Given the description of an element on the screen output the (x, y) to click on. 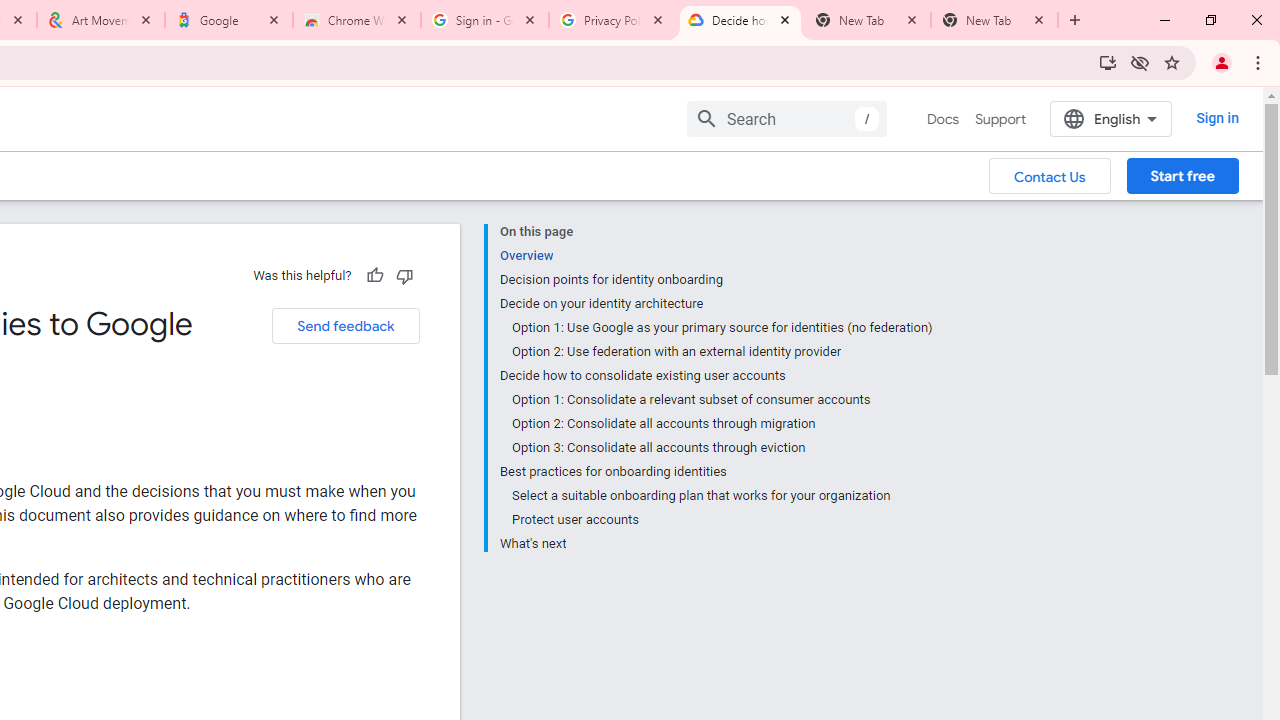
Contact Us (1050, 175)
Protect user accounts (721, 520)
Option 2: Use federation with an external identity provider (721, 351)
New Tab (994, 20)
